Given the description of an element on the screen output the (x, y) to click on. 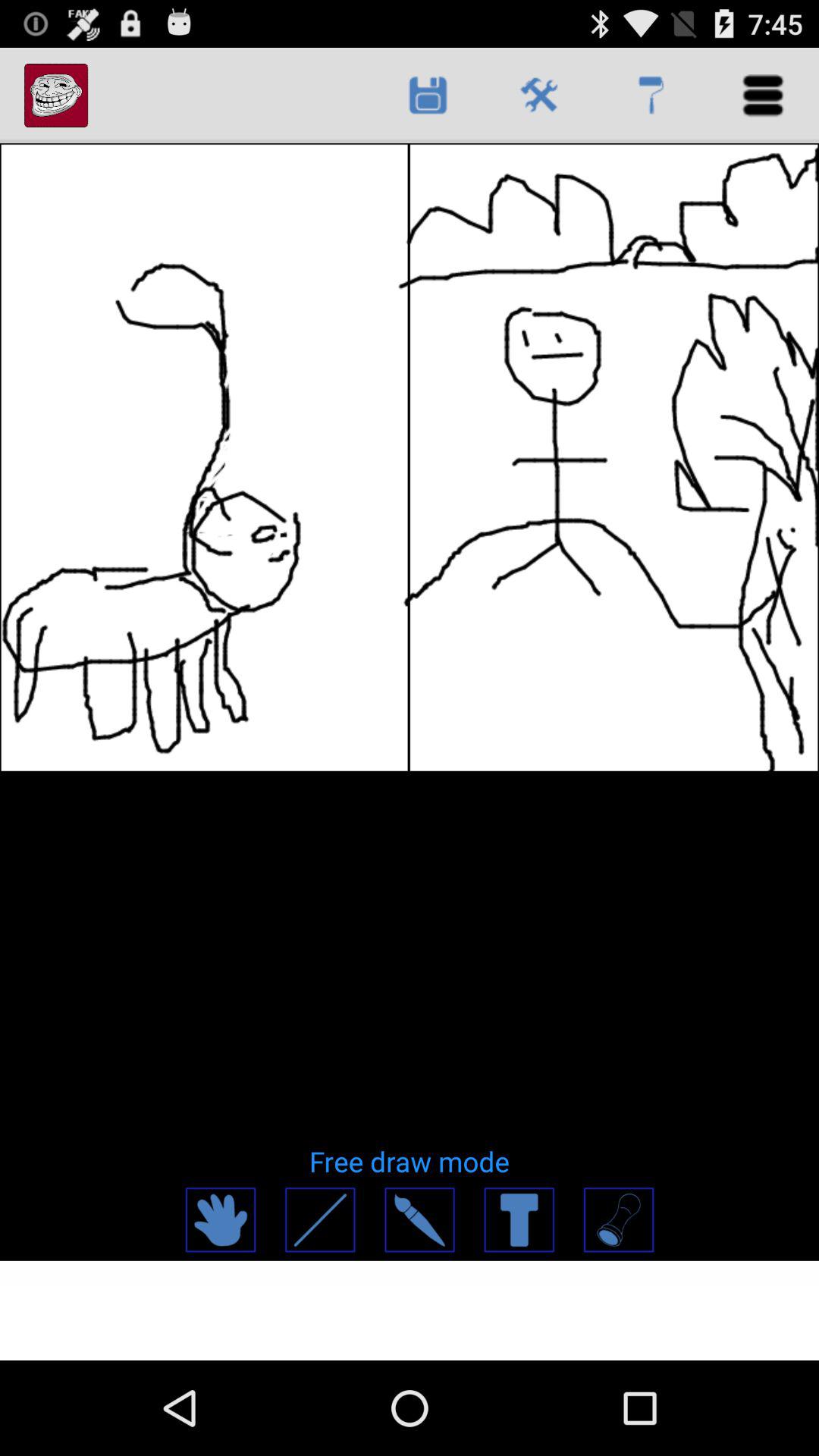
select brush tool (418, 1219)
